Given the description of an element on the screen output the (x, y) to click on. 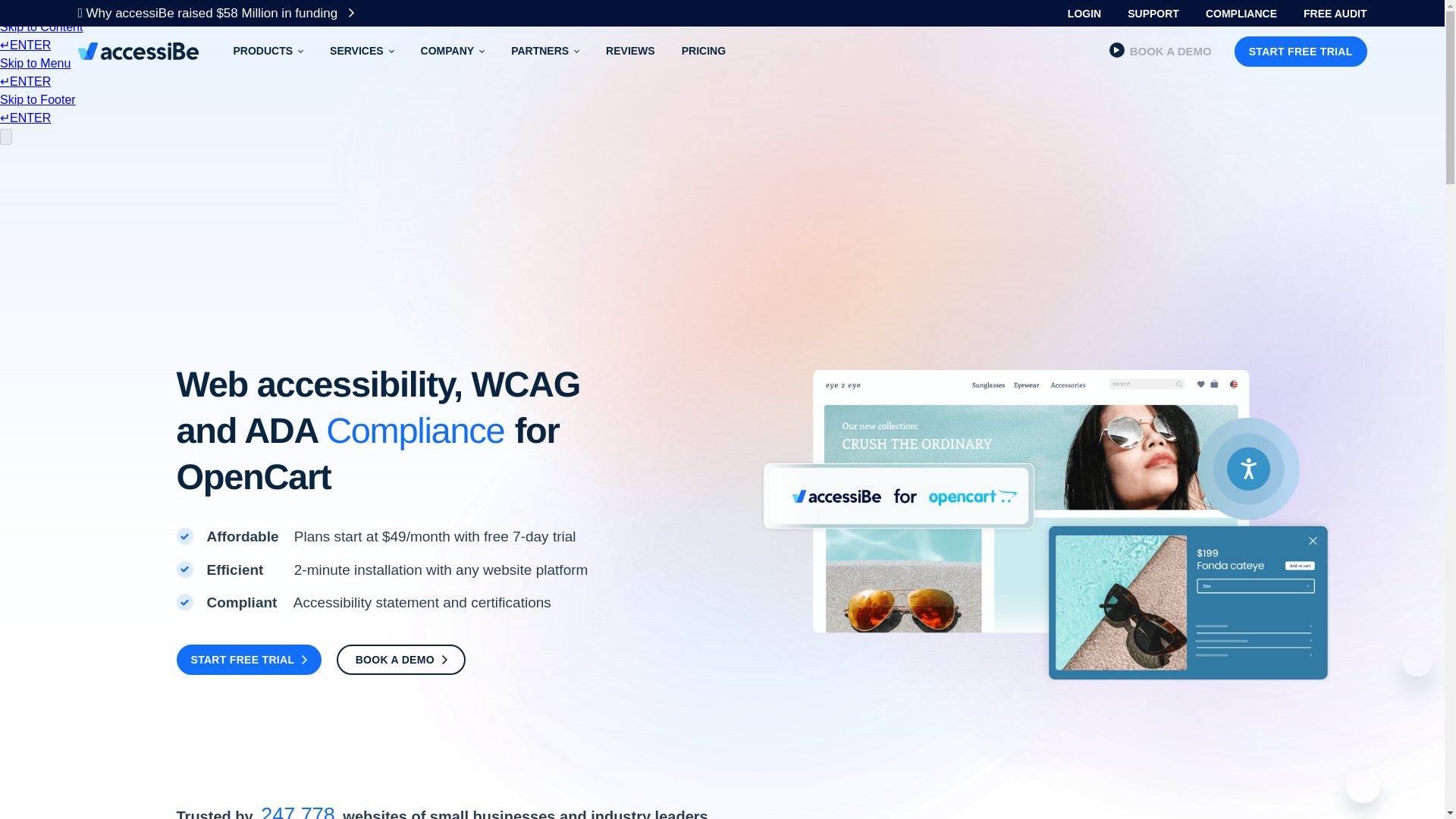
FREE AUDIT (1335, 13)
SUPPORT (1152, 13)
Button to launch messaging window (1370, 793)
SERVICES (361, 51)
COMPLIANCE (1240, 13)
PRODUCTS (1083, 13)
Close message from Anna (268, 51)
no content (1417, 661)
